Given the description of an element on the screen output the (x, y) to click on. 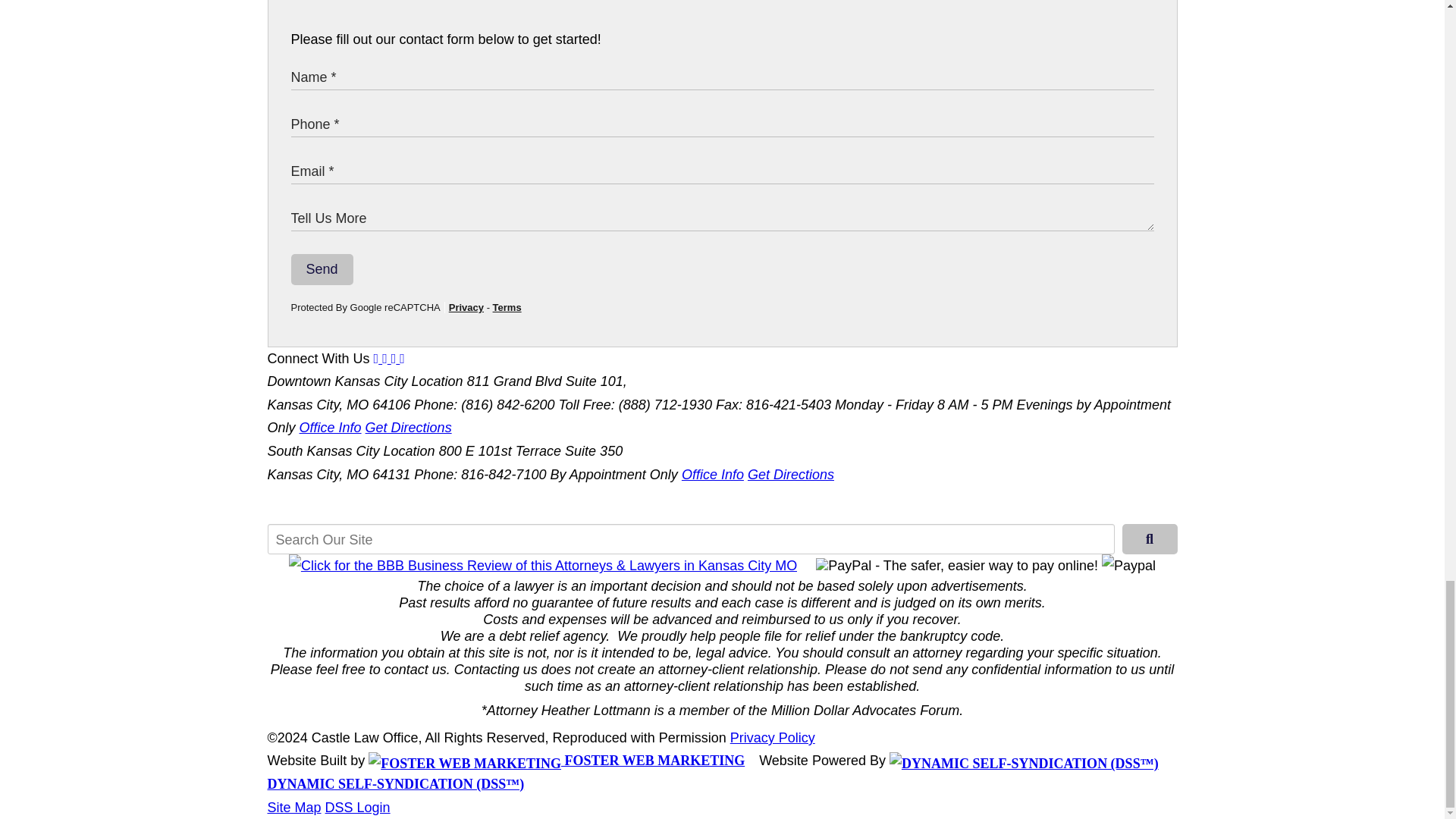
Search (1149, 539)
